Given the description of an element on the screen output the (x, y) to click on. 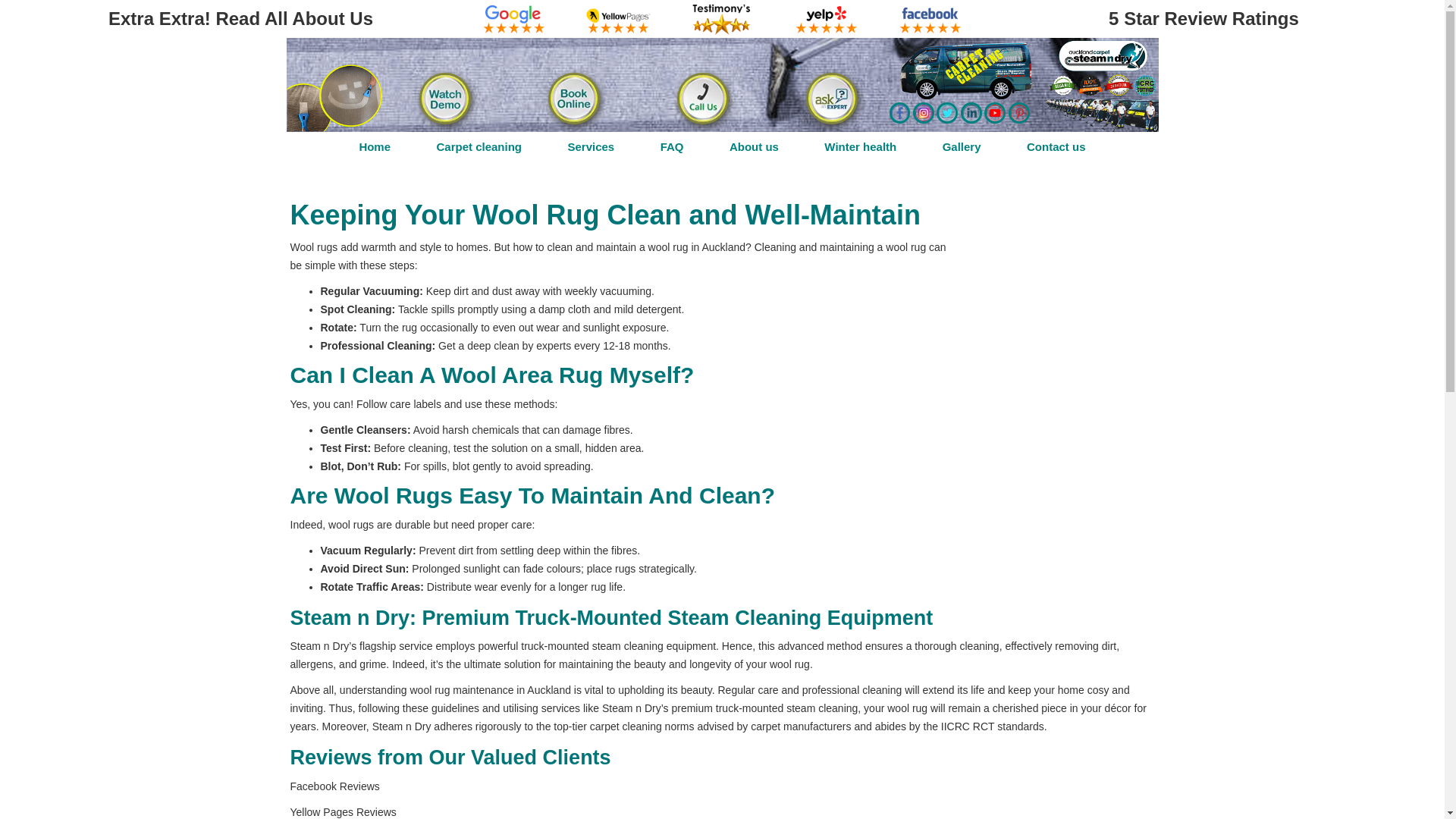
Extra Extra! Read All About Us (240, 18)
Services (591, 146)
Carpet cleaning (478, 146)
5 Star Review Ratings (1203, 18)
Home (374, 146)
Home (374, 146)
Carpet cleaning (478, 146)
